Given the description of an element on the screen output the (x, y) to click on. 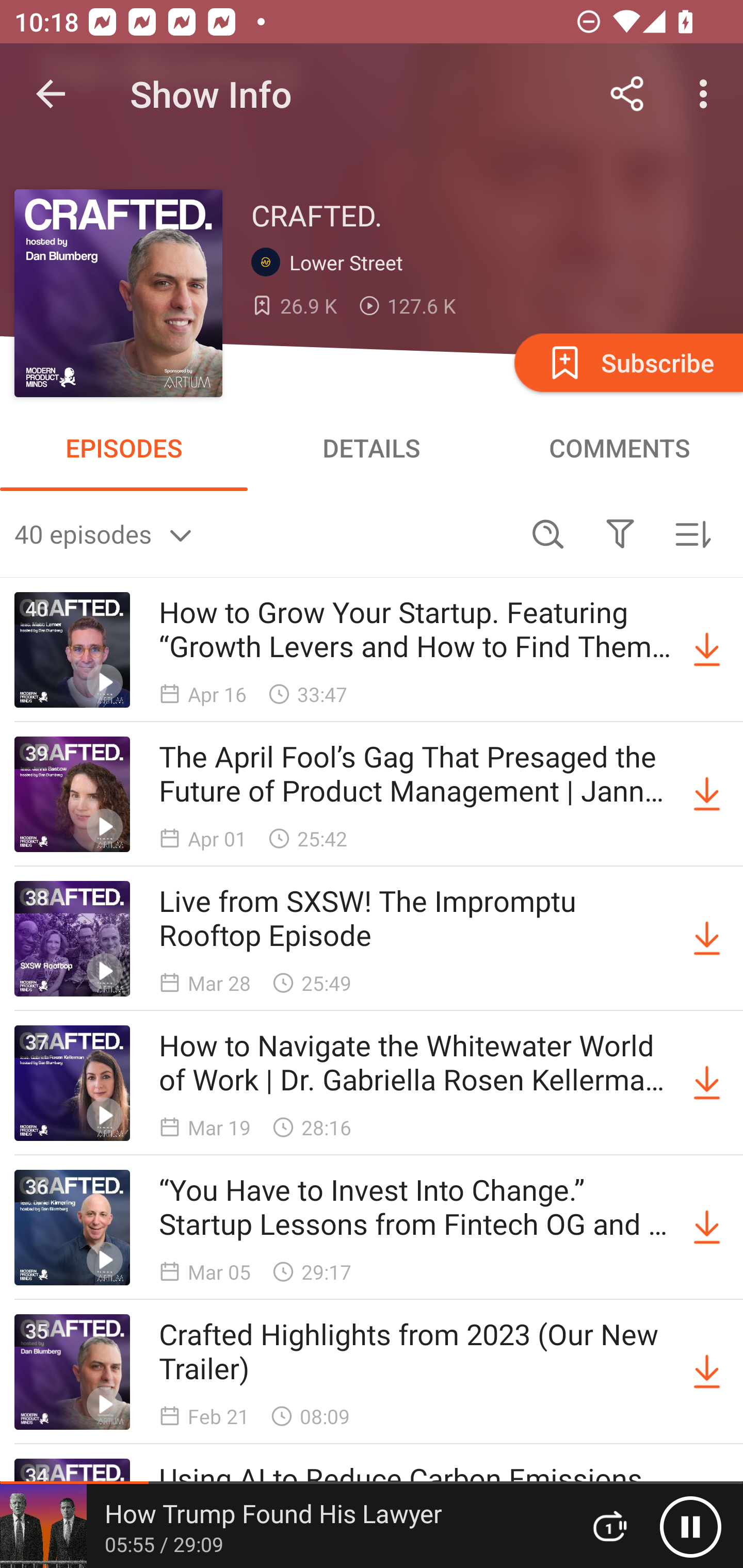
Navigate up (50, 93)
Share (626, 93)
More options (706, 93)
Lower Street (331, 262)
Subscribe (627, 361)
EPISODES (123, 447)
DETAILS (371, 447)
COMMENTS (619, 447)
40 episodes  (262, 533)
 Search (547, 533)
 (619, 533)
 Sorted by newest first (692, 533)
Download (706, 649)
Download (706, 793)
Download (706, 939)
Download (706, 1083)
Download (706, 1227)
Download (706, 1371)
How Trump Found His Lawyer 05:55 / 29:09 (283, 1525)
Pause (690, 1526)
